Given the description of an element on the screen output the (x, y) to click on. 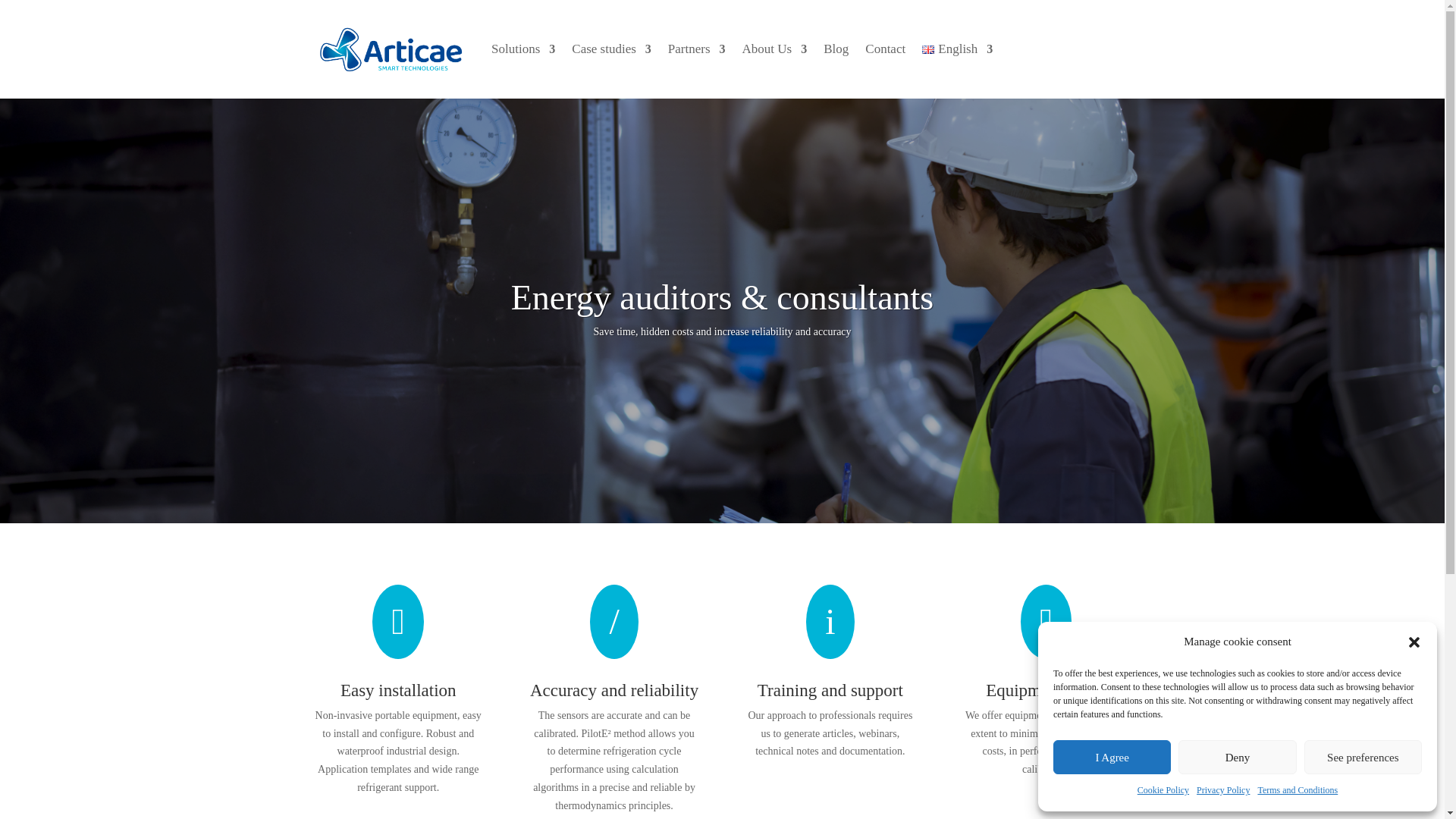
Partners (696, 48)
Case studies (611, 48)
Deny (1236, 756)
About Us (775, 48)
I Agree (1111, 756)
Terms and Conditions (1297, 791)
English (956, 48)
Solutions (523, 48)
Cookie Policy (1163, 791)
See preferences (1363, 756)
Privacy Policy (1222, 791)
